Given the description of an element on the screen output the (x, y) to click on. 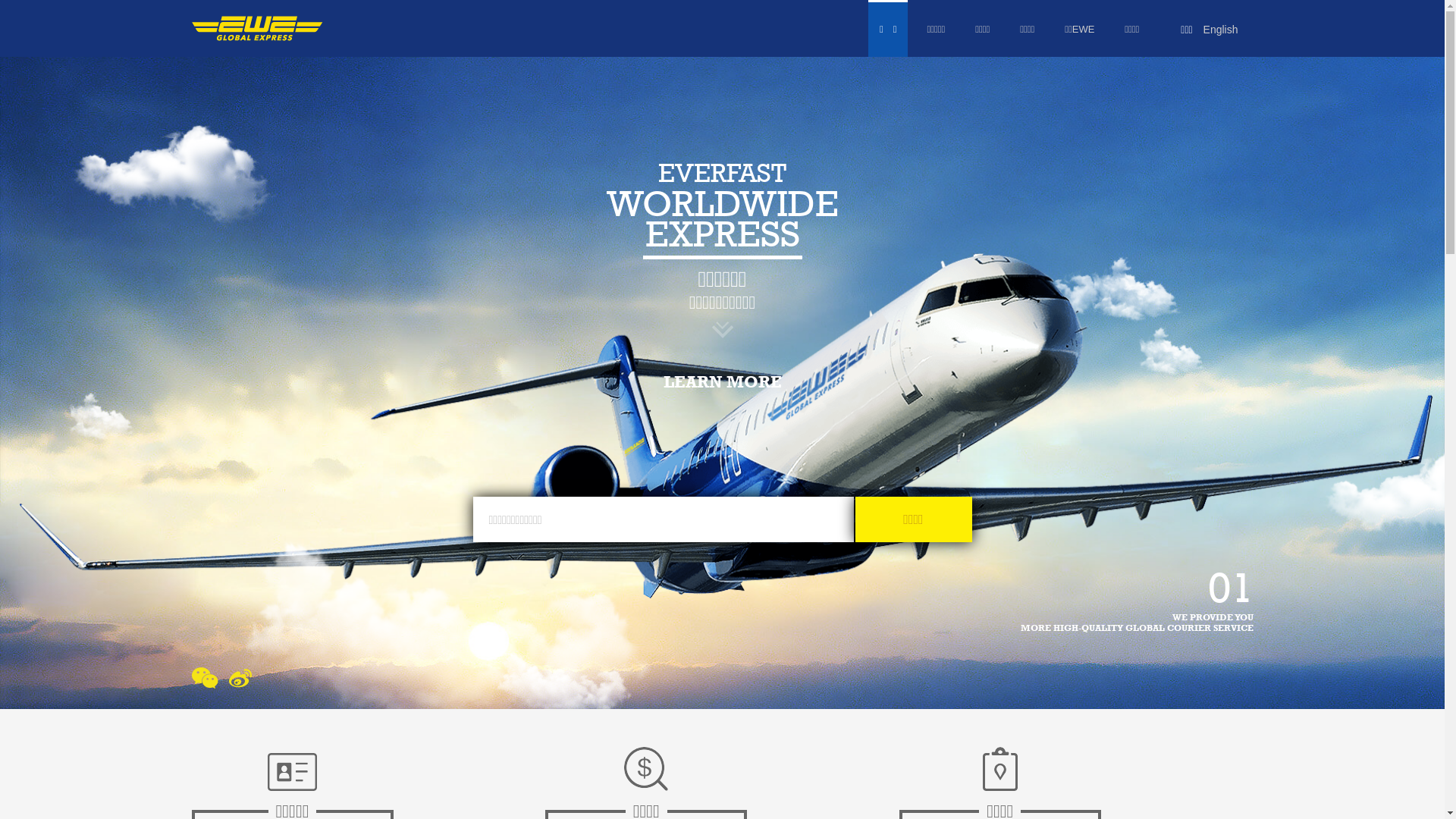
LEARN MORE Element type: text (721, 381)
English Element type: text (1220, 29)
